Given the description of an element on the screen output the (x, y) to click on. 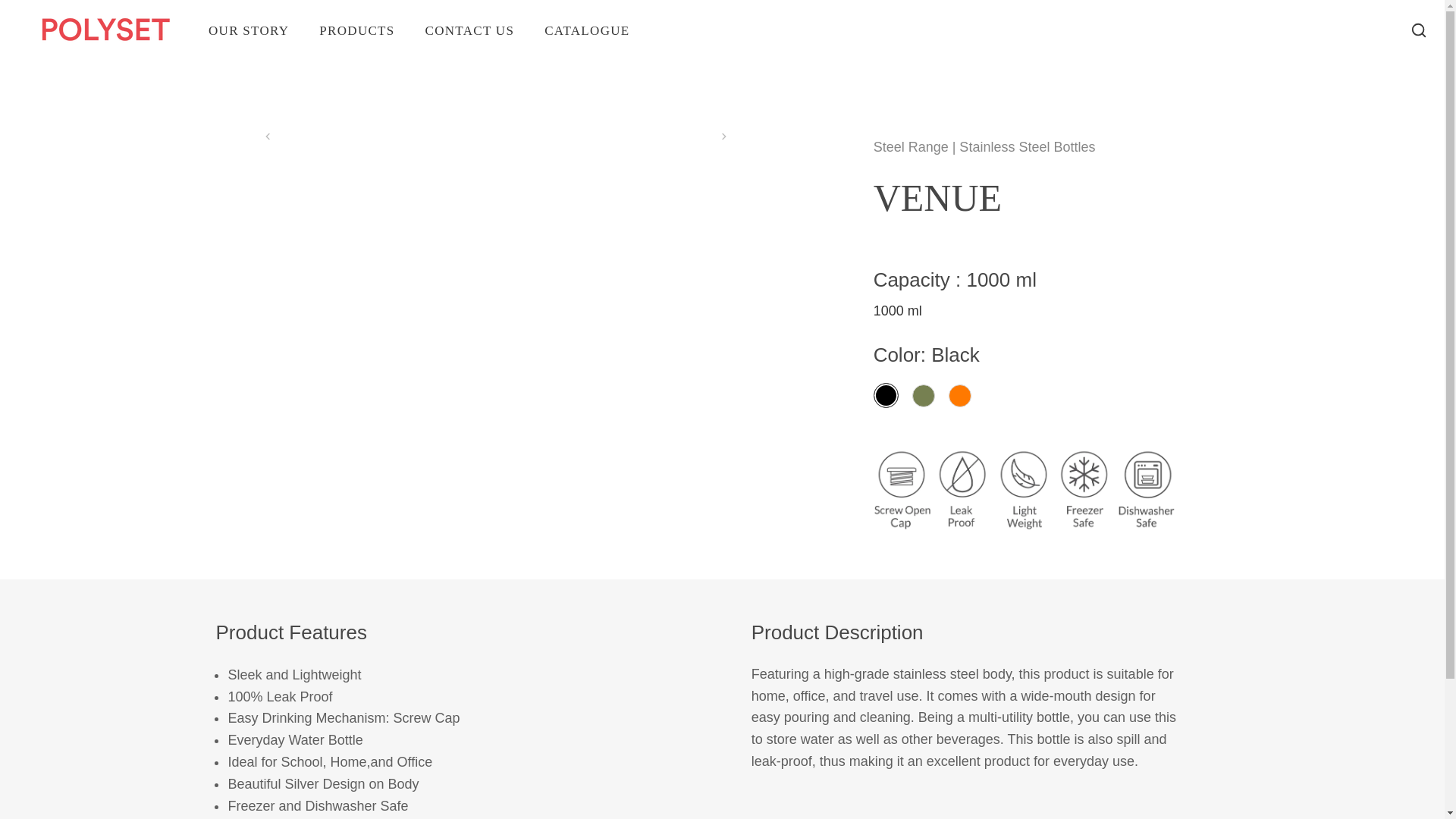
Green (923, 395)
Orange (960, 395)
OUR STORY (248, 29)
PRODUCTS (356, 29)
Black (885, 395)
Skip to content (10, 7)
